Given the description of an element on the screen output the (x, y) to click on. 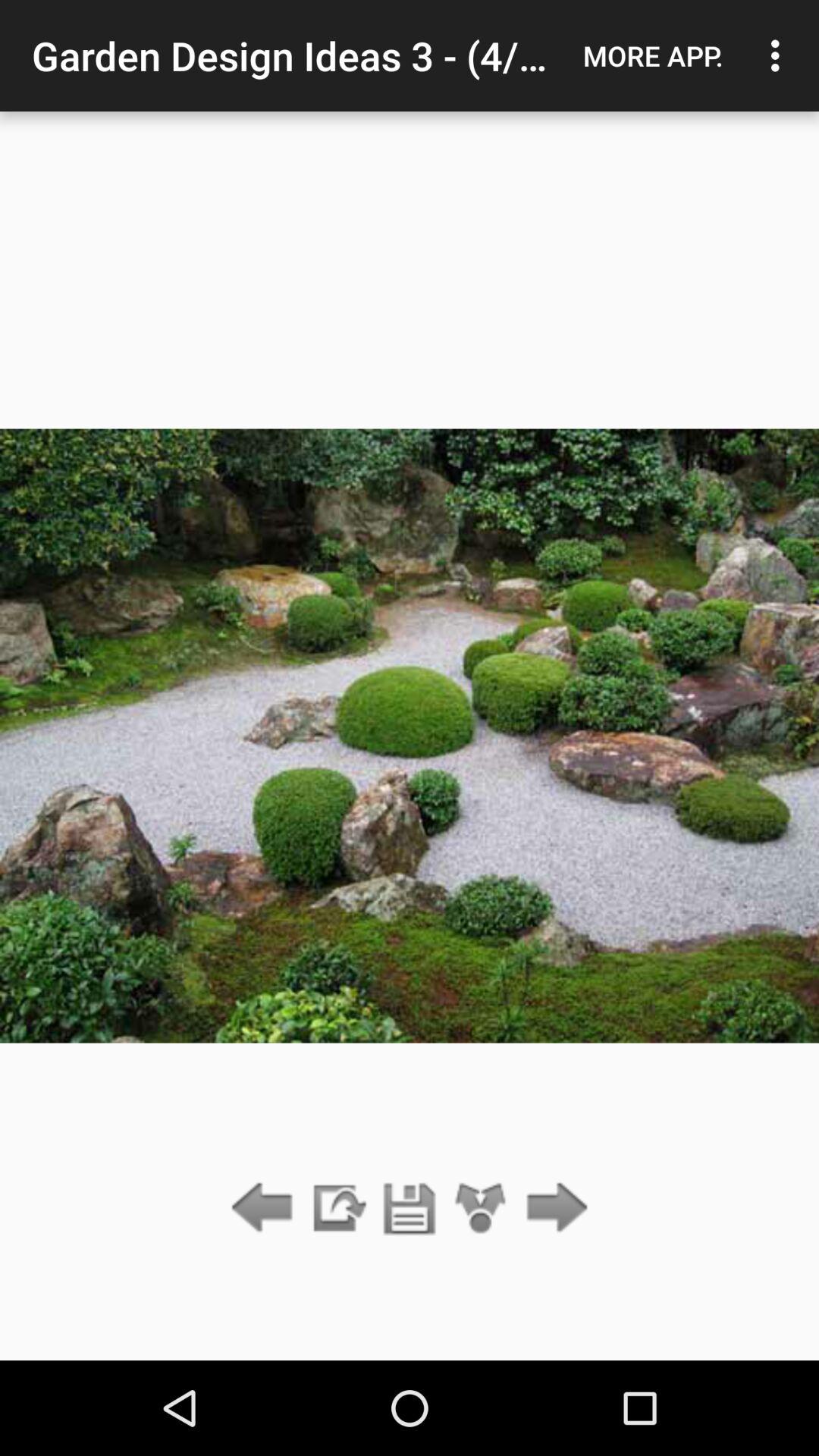
enlarge icon (480, 1208)
